Given the description of an element on the screen output the (x, y) to click on. 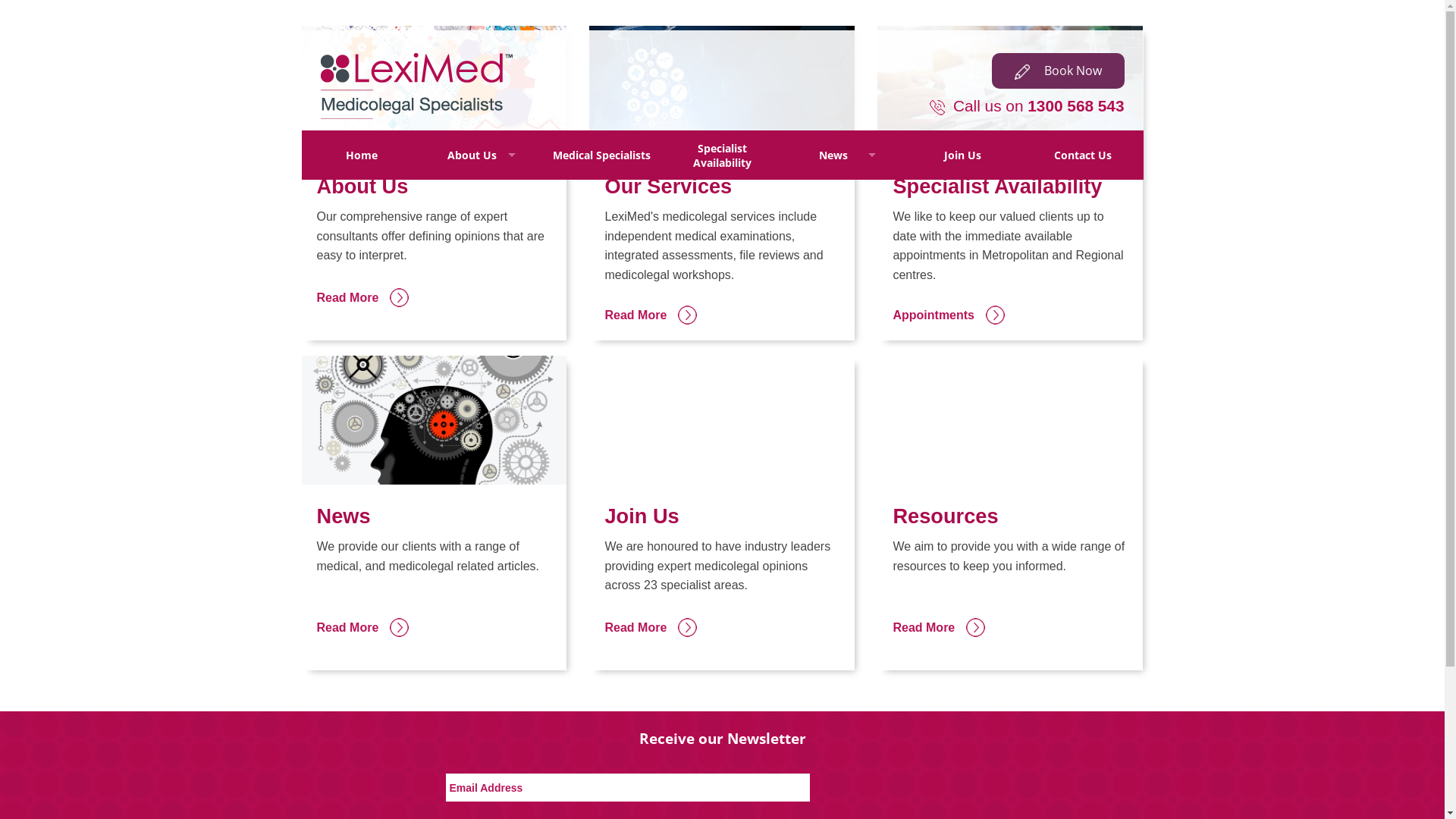
Read More Element type: text (721, 312)
Read More Element type: text (721, 624)
Home Element type: text (361, 154)
News Element type: text (842, 154)
Specialist Availability Element type: text (722, 154)
Read More Element type: text (434, 294)
About Us Element type: text (481, 154)
Read More Element type: text (1009, 624)
Contact Us Element type: text (1082, 154)
Join Us Element type: text (962, 154)
Medical Specialists Element type: text (602, 154)
Appointments Element type: text (1009, 312)
Book Now Element type: text (1057, 70)
Read More Element type: text (434, 624)
